Given the description of an element on the screen output the (x, y) to click on. 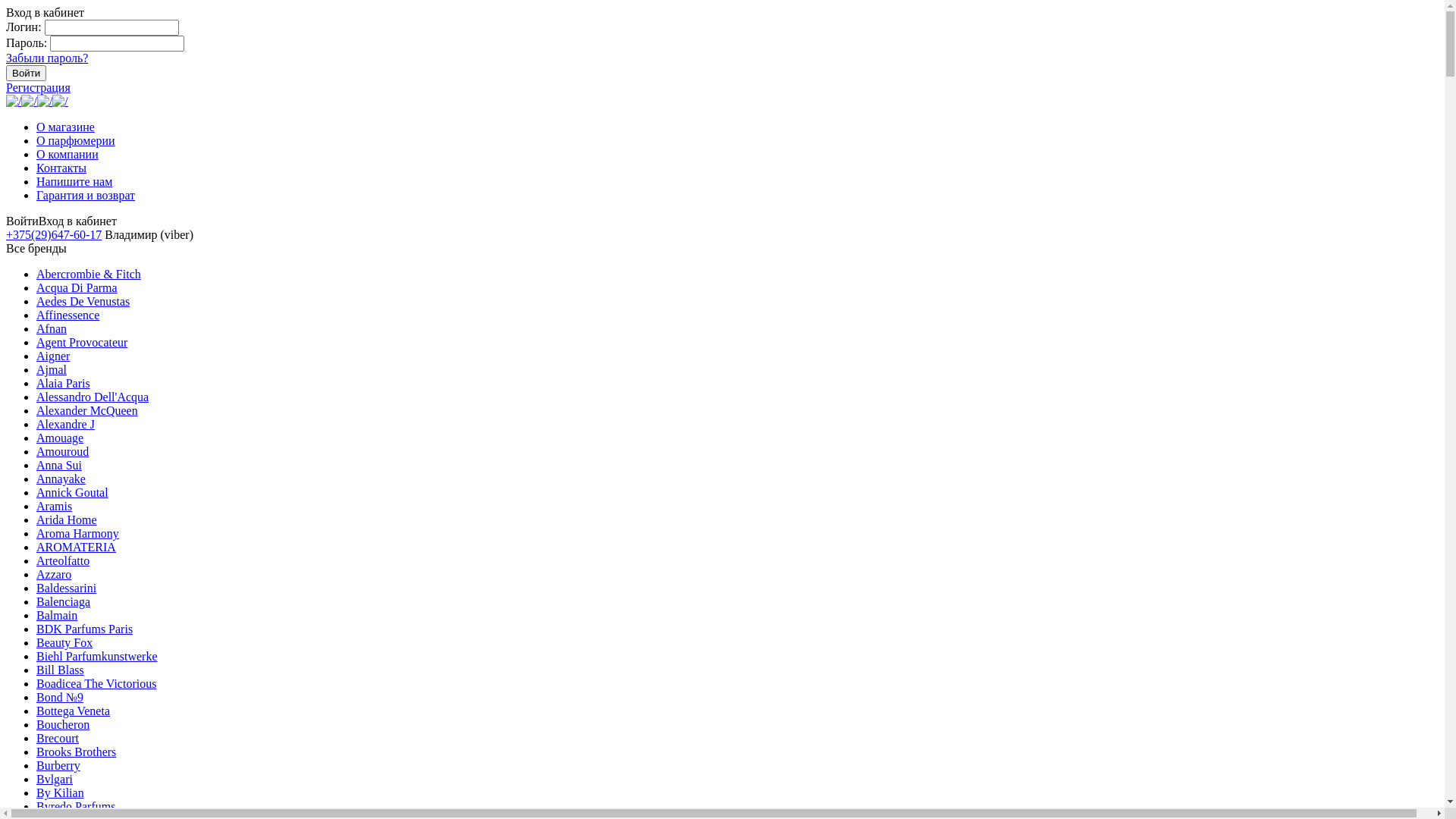
Burberry Element type: text (58, 765)
Brooks Brothers Element type: text (76, 751)
Ajmal Element type: text (51, 369)
Balmain Element type: text (56, 614)
Annick Goutal Element type: text (72, 492)
Abercrombie & Fitch Element type: text (88, 273)
Brecourt Element type: text (57, 737)
Biehl Parfumkunstwerke Element type: text (96, 655)
Arida Home Element type: text (66, 519)
Boadicea The Victorious Element type: text (96, 683)
Alexander McQueen Element type: text (87, 410)
Amouroud Element type: text (62, 451)
Beauty Fox Element type: text (64, 642)
Balenciaga Element type: text (63, 601)
Bill Blass Element type: text (60, 669)
Aigner Element type: text (52, 355)
Annayake Element type: text (60, 478)
Aedes De Venustas Element type: text (82, 300)
Anna Sui Element type: text (58, 464)
Baldessarini Element type: text (66, 587)
Afnan Element type: text (51, 328)
Byredo Parfums Element type: text (75, 806)
Bvlgari Element type: text (54, 778)
AROMATERIA Element type: text (76, 546)
Acqua Di Parma Element type: text (76, 287)
Aroma Harmony Element type: text (77, 533)
Alaia Paris Element type: text (63, 382)
+375(29)647-60-17 Element type: text (53, 234)
Aramis Element type: text (54, 505)
Alexandre J Element type: text (65, 423)
Boucheron Element type: text (62, 724)
Arteolfatto Element type: text (62, 560)
Bottega Veneta Element type: text (72, 710)
Alessandro Dell'Acqua Element type: text (92, 396)
Affinessence Element type: text (67, 314)
Agent Provocateur Element type: text (81, 341)
Azzaro Element type: text (53, 573)
BDK Parfums Paris Element type: text (84, 628)
By Kilian Element type: text (60, 792)
Amouage Element type: text (59, 437)
